Given the description of an element on the screen output the (x, y) to click on. 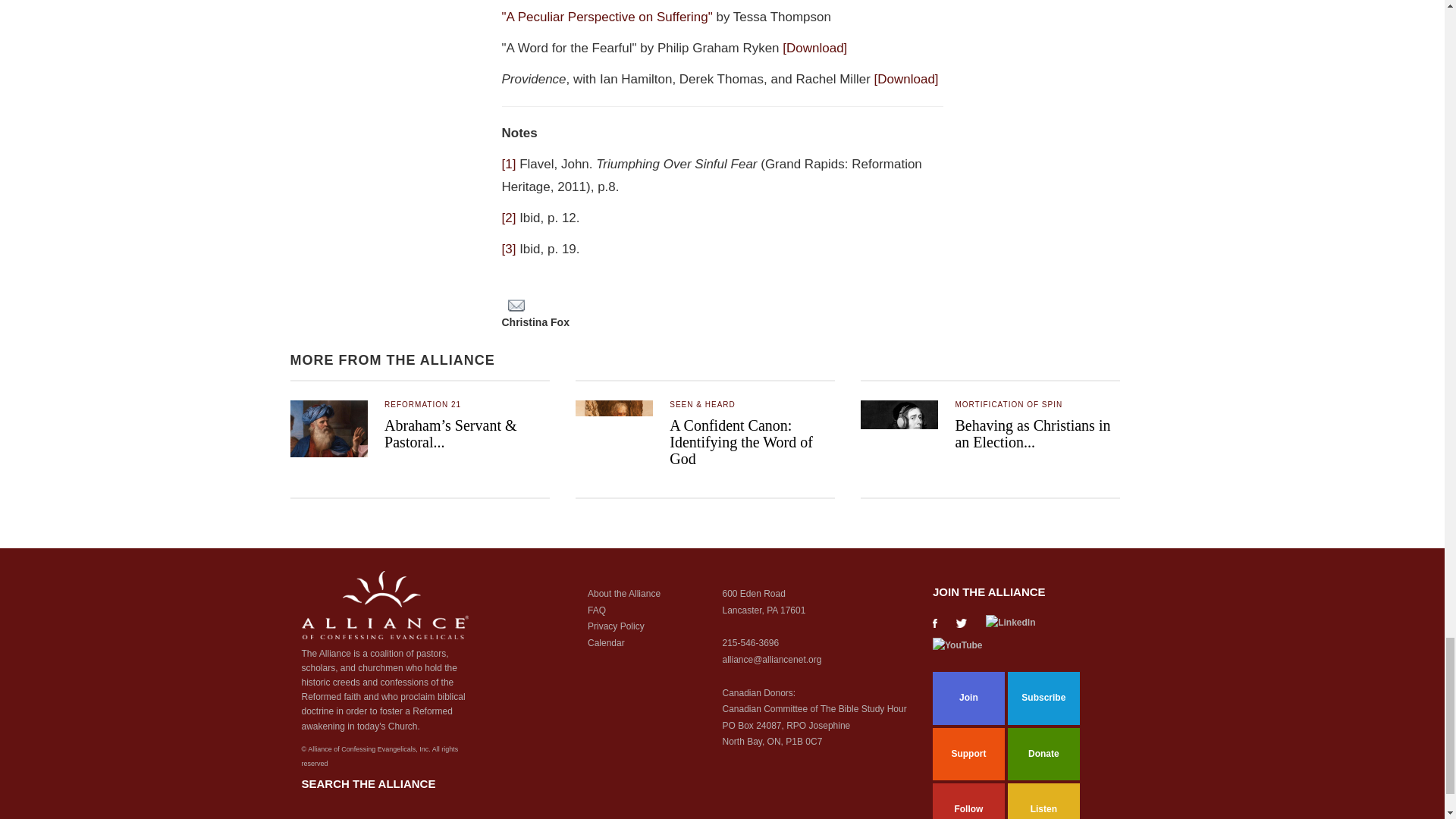
A Confident Canon: Identifying the Word of God (740, 441)
Behaving as Christians in an Election... (1032, 433)
Mortification of Spin (1008, 404)
Share this page through e-mail. Local e-mail client needed. (516, 306)
Reformation 21 (422, 404)
